Given the description of an element on the screen output the (x, y) to click on. 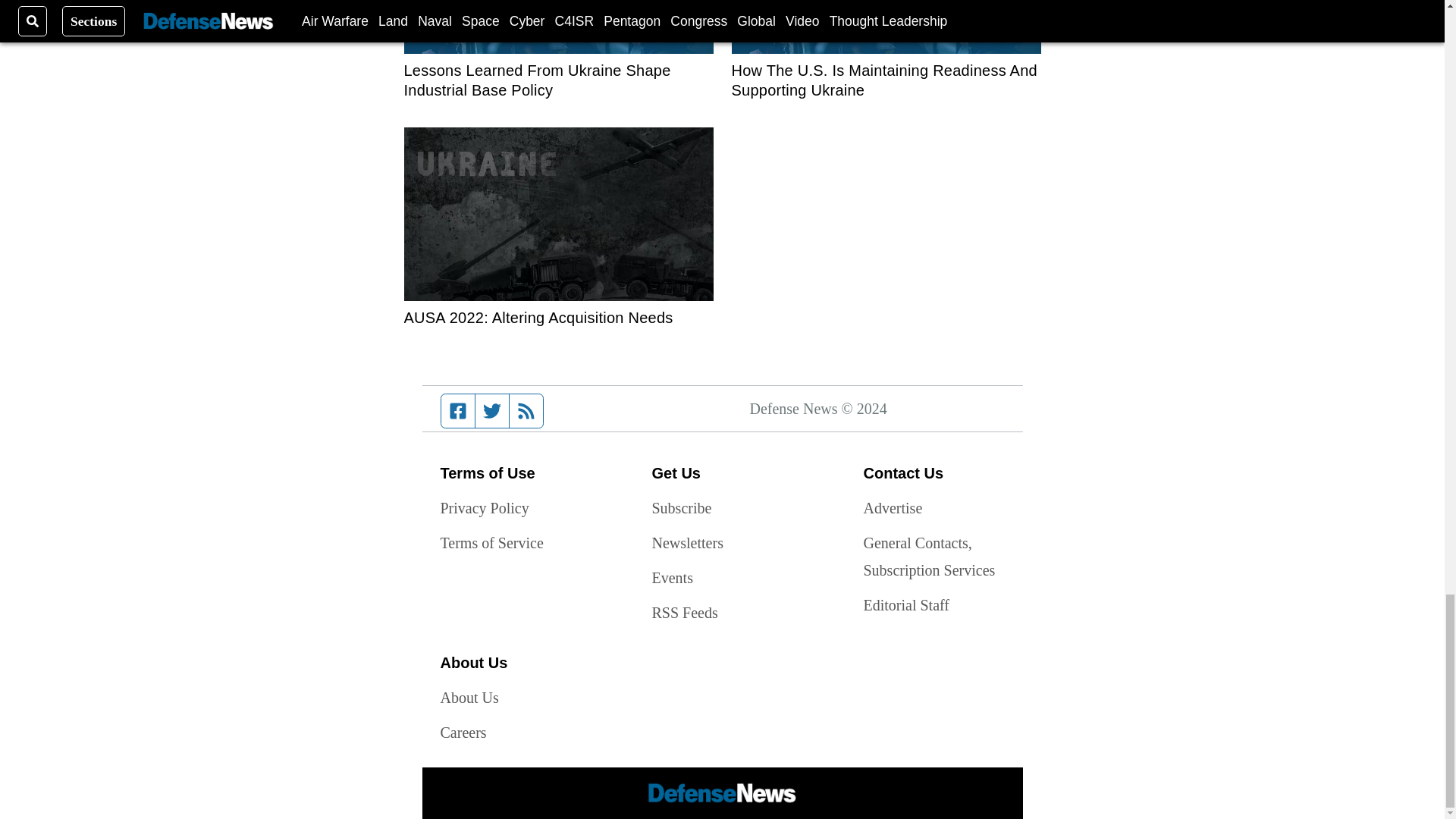
Twitter feed (491, 410)
Facebook page (458, 410)
RSS feed (526, 410)
